Given the description of an element on the screen output the (x, y) to click on. 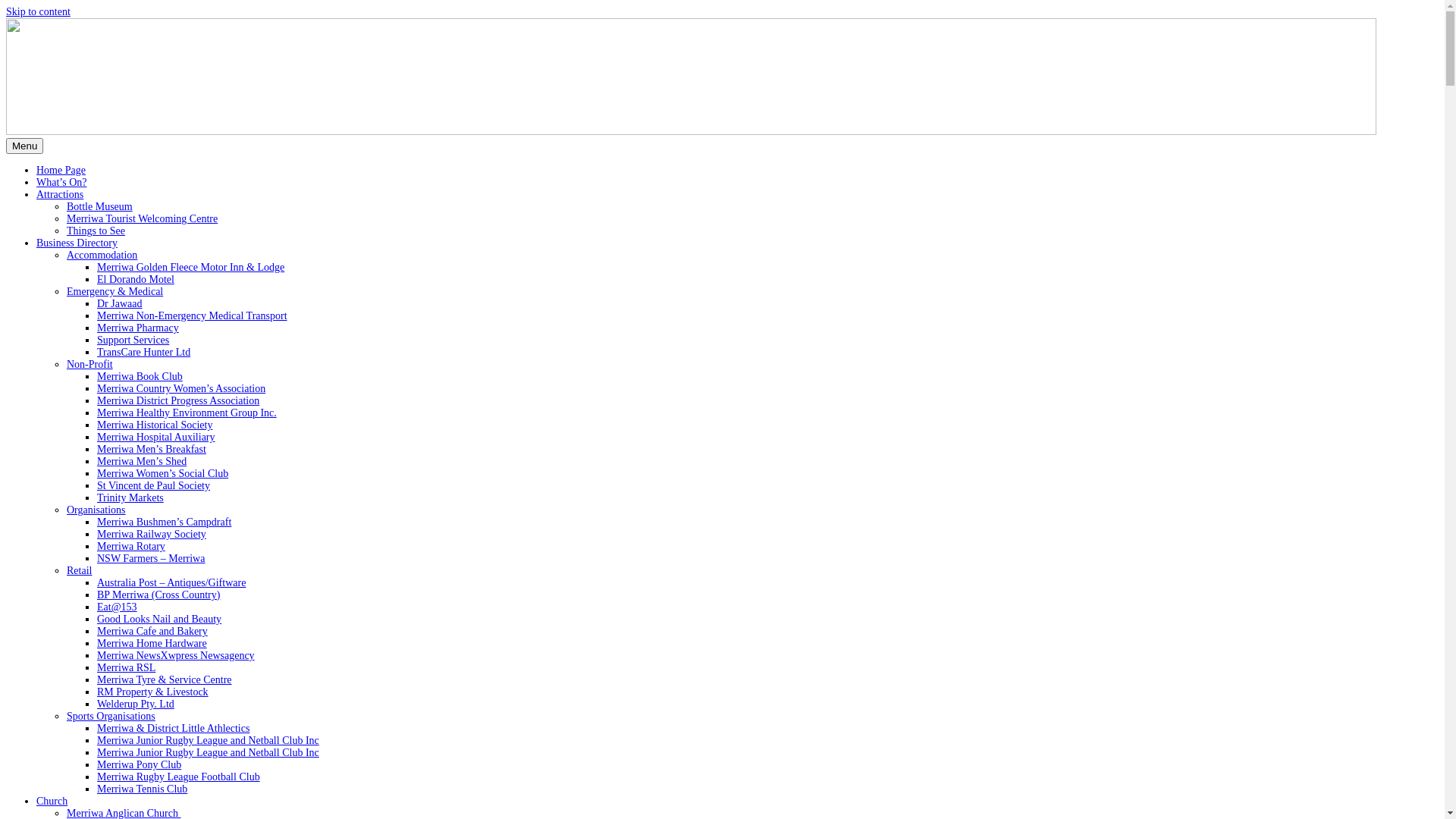
Merriwa Book Club Element type: text (139, 376)
Emergency & Medical Element type: text (114, 291)
Skip to content Element type: text (38, 11)
Business Directory Element type: text (76, 242)
Menu Element type: text (24, 145)
Merriwa Railway Society Element type: text (151, 533)
TransCare Hunter Ltd Element type: text (143, 351)
Things to See Element type: text (95, 230)
Merriwa Historical Society Element type: text (154, 424)
Welderup Pty. Ltd Element type: text (135, 703)
Merriwa Pharmacy Element type: text (137, 327)
Merriwa Tourist Welcoming Centre Element type: text (141, 218)
Merriwa District Progress Association Element type: text (178, 400)
Merriwa Home Hardware Element type: text (152, 643)
Merriwa Junior Rugby League and Netball Club Inc Element type: text (208, 752)
Dr Jawaad Element type: text (119, 303)
Merriwa & District Little Athlectics Element type: text (173, 728)
El Dorando Motel Element type: text (135, 279)
Church Element type: text (51, 800)
Merriwa Junior Rugby League and Netball Club Inc Element type: text (208, 740)
Retail Element type: text (78, 570)
Attractions Element type: text (59, 194)
Organisations Element type: text (95, 509)
Merriwa Pony Club Element type: text (139, 764)
BP Merriwa (Cross Country) Element type: text (158, 594)
Merriwa Hospital Auxiliary Element type: text (156, 436)
Sports Organisations Element type: text (110, 715)
RM Property & Livestock Element type: text (152, 691)
Merriwa RSL Element type: text (126, 667)
Non-Profit Element type: text (89, 364)
Merriwa Rotary Element type: text (131, 546)
Bottle Museum Element type: text (99, 206)
Support Services Element type: text (133, 339)
Merriwa NewsXwpress Newsagency Element type: text (175, 655)
Merriwa Non-Emergency Medical Transport Element type: text (192, 315)
Good Looks Nail and Beauty Element type: text (159, 618)
Trinity Markets Element type: text (130, 497)
Merriwa Golden Fleece Motor Inn & Lodge Element type: text (190, 267)
St Vincent de Paul Society Element type: text (153, 485)
Home Page Element type: text (60, 169)
Merriwa Tennis Club Element type: text (142, 788)
Merriwa Cafe and Bakery Element type: text (152, 631)
Accommodation Element type: text (101, 254)
Merriwa Healthy Environment Group Inc. Element type: text (186, 412)
Merriwa Rugby League Football Club Element type: text (178, 776)
Merriwa Tyre & Service Centre Element type: text (164, 679)
Eat@153 Element type: text (117, 606)
